Given the description of an element on the screen output the (x, y) to click on. 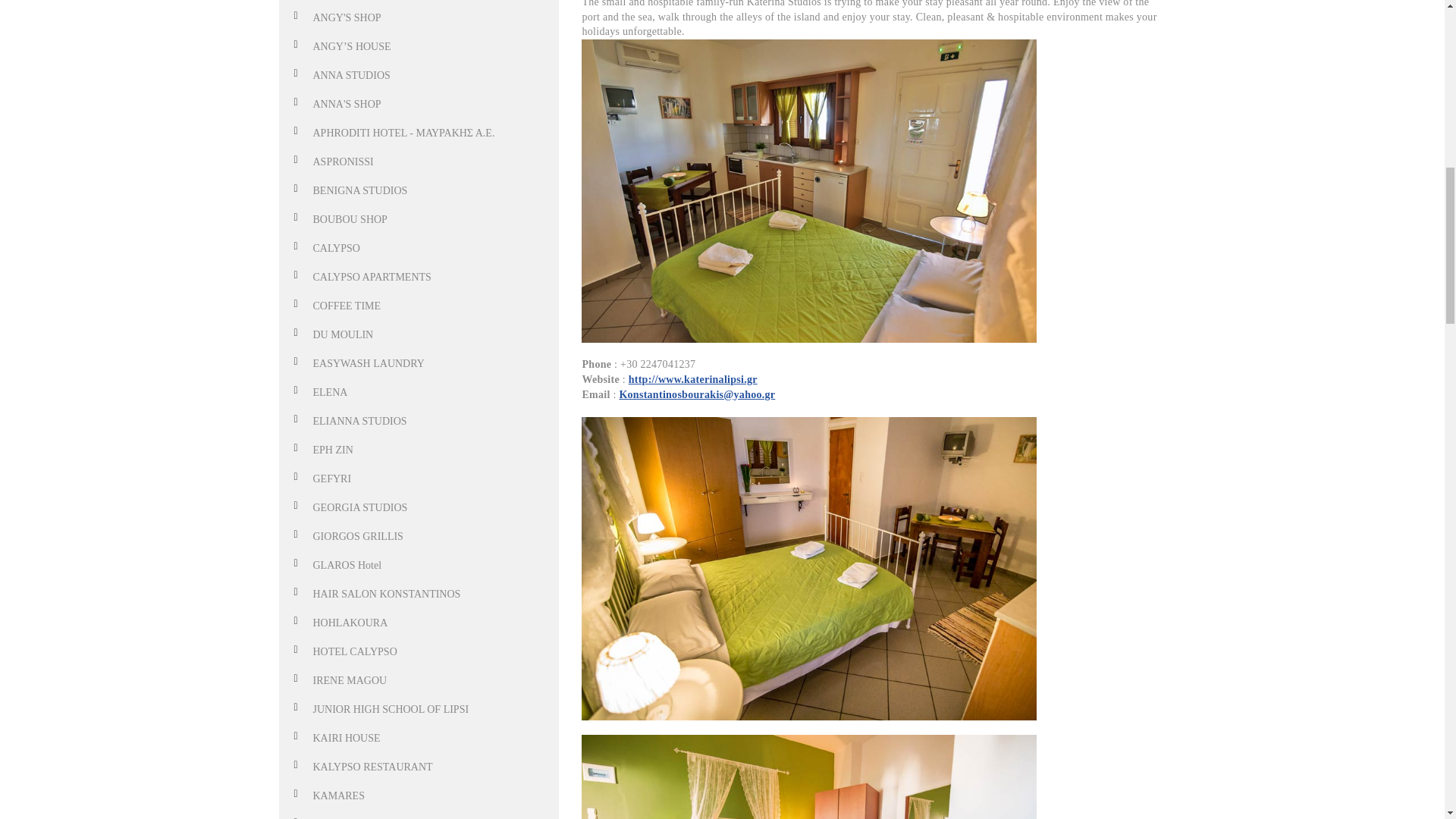
ASPRONISSI (342, 161)
ANNA STUDIOS (351, 75)
ANNA'S SHOP (346, 103)
ANGY'S SHOP (346, 17)
BENIGNA STUDIOS (360, 190)
